Given the description of an element on the screen output the (x, y) to click on. 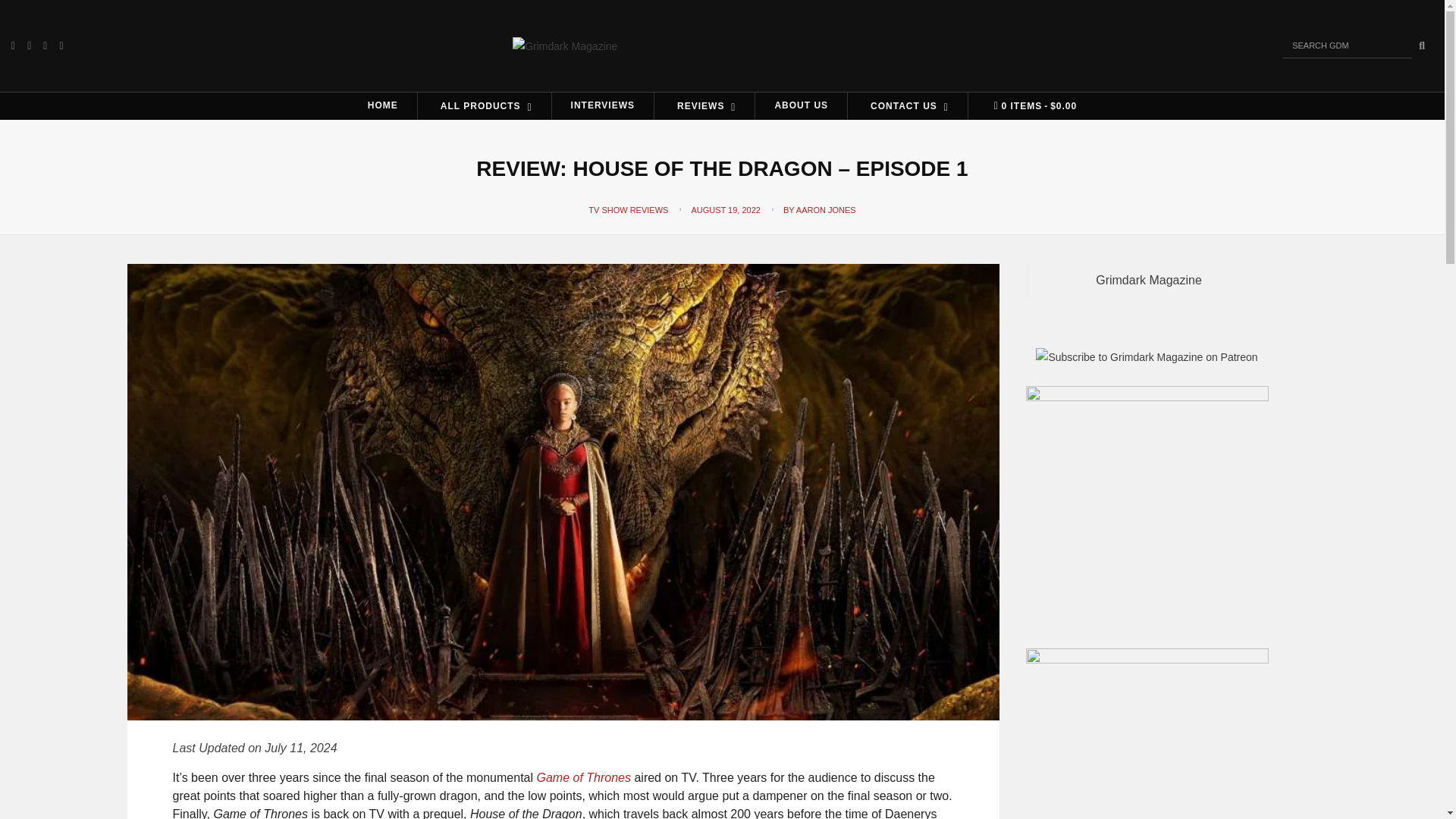
Game of Thrones (584, 777)
CONTACT US (907, 105)
REVIEWS (703, 105)
TV SHOW REVIEWS (628, 209)
ABOUT US (801, 105)
Start shopping (1032, 105)
AARON JONES (826, 209)
HOME (382, 105)
Search (1421, 45)
INTERVIEWS (602, 105)
ALL PRODUCTS (484, 105)
